Given the description of an element on the screen output the (x, y) to click on. 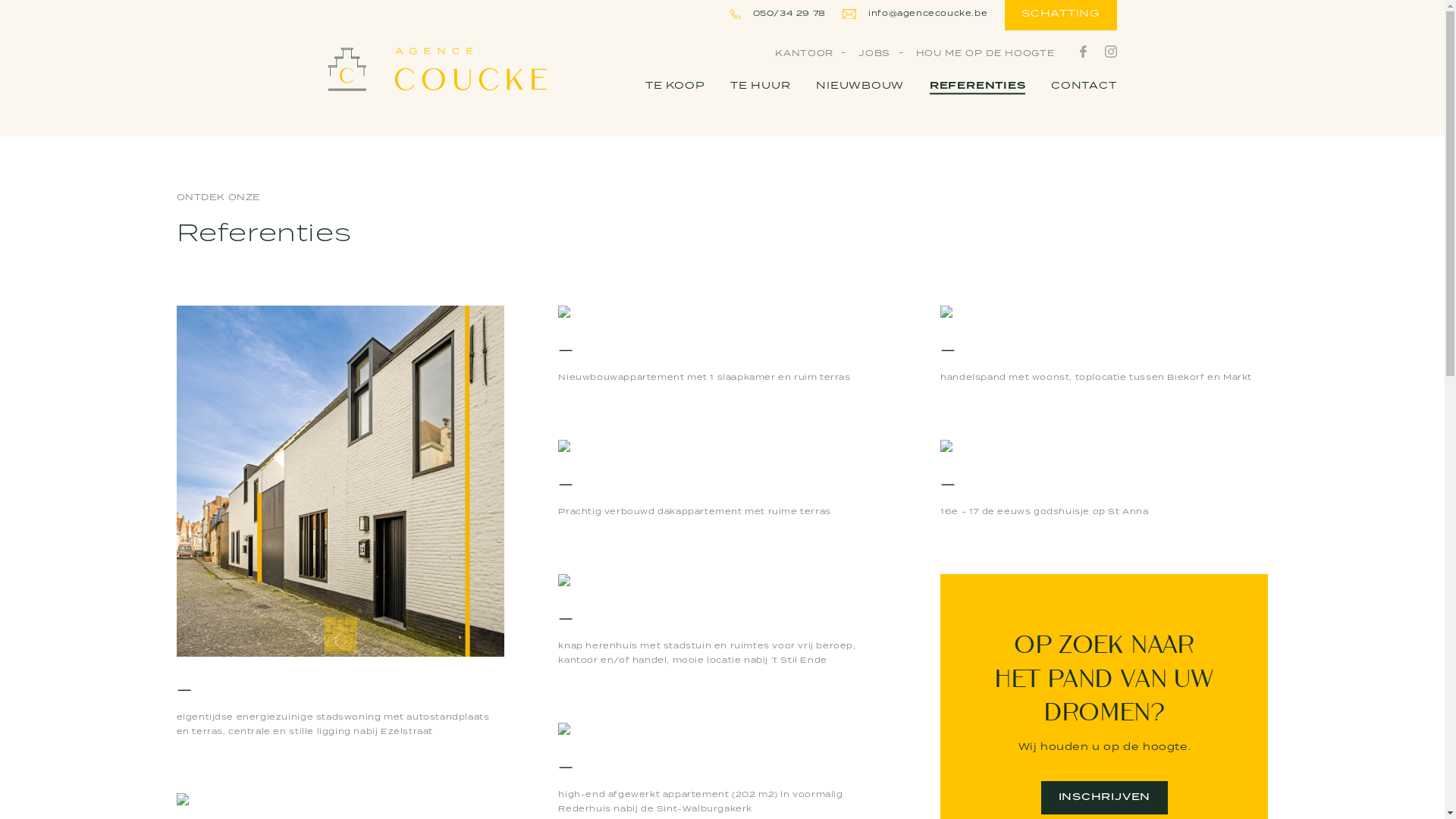
050/34 29 78 Element type: text (777, 14)
REFERENTIES Element type: text (977, 85)
NIEUWBOUW Element type: text (859, 85)
HOU ME OP DE HOOGTE Element type: text (985, 53)
KANTOOR Element type: text (804, 53)
JOBS Element type: text (874, 53)
CONTACT Element type: text (1083, 85)
TE KOOP Element type: text (674, 85)
info@agencecoucke.be Element type: text (914, 14)
TE HUUR Element type: text (760, 85)
INSCHRIJVEN Element type: text (1104, 797)
